Given the description of an element on the screen output the (x, y) to click on. 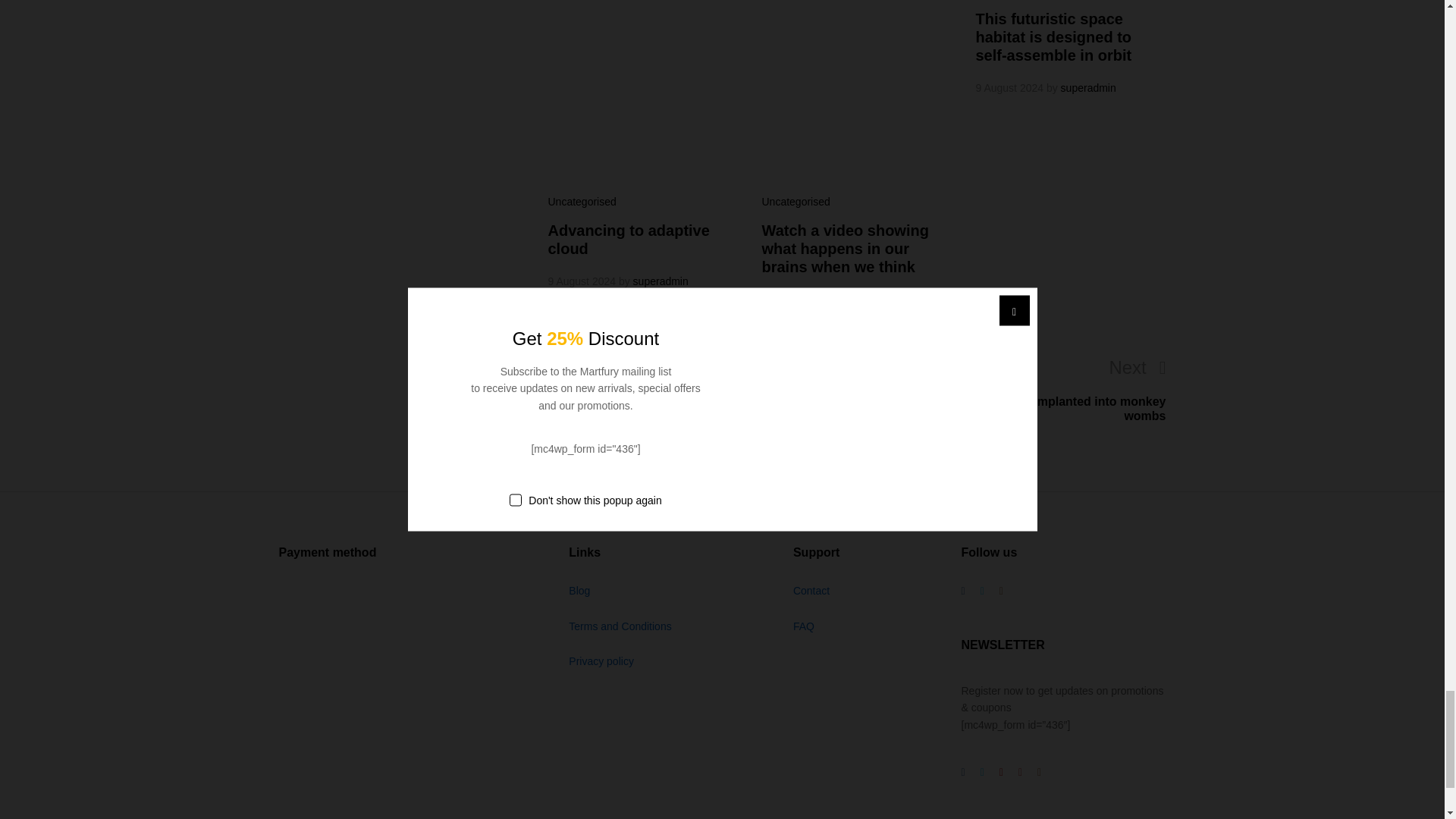
Advancing to adaptive cloud (628, 239)
Twitter (981, 590)
Youtube (1019, 771)
Google Plus (1000, 771)
superadmin (660, 281)
Facebook (962, 771)
superadmin (874, 299)
Instagram (1000, 590)
Uncategorised (795, 201)
